Given the description of an element on the screen output the (x, y) to click on. 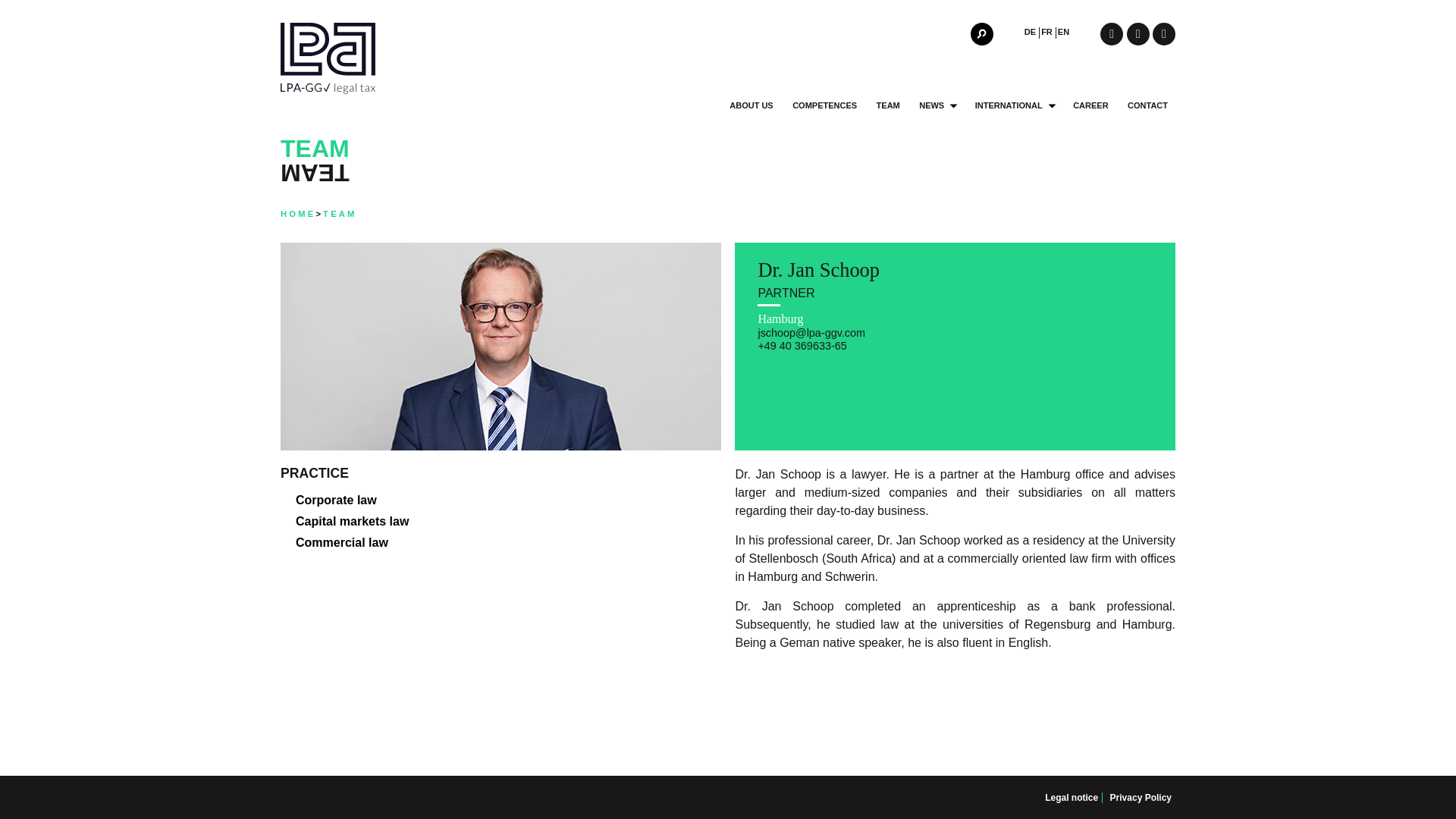
CONTACT (1146, 105)
DE (1031, 32)
NEWS (931, 105)
FR (1047, 32)
TEAM (887, 105)
TEAM (339, 213)
Legal notice (1071, 797)
ABOUT US (750, 105)
Team (339, 213)
CAREER (1089, 105)
Commercial law (341, 542)
Privacy Policy (1140, 797)
Corporate law (336, 499)
EN (1064, 32)
HOME (298, 213)
